Given the description of an element on the screen output the (x, y) to click on. 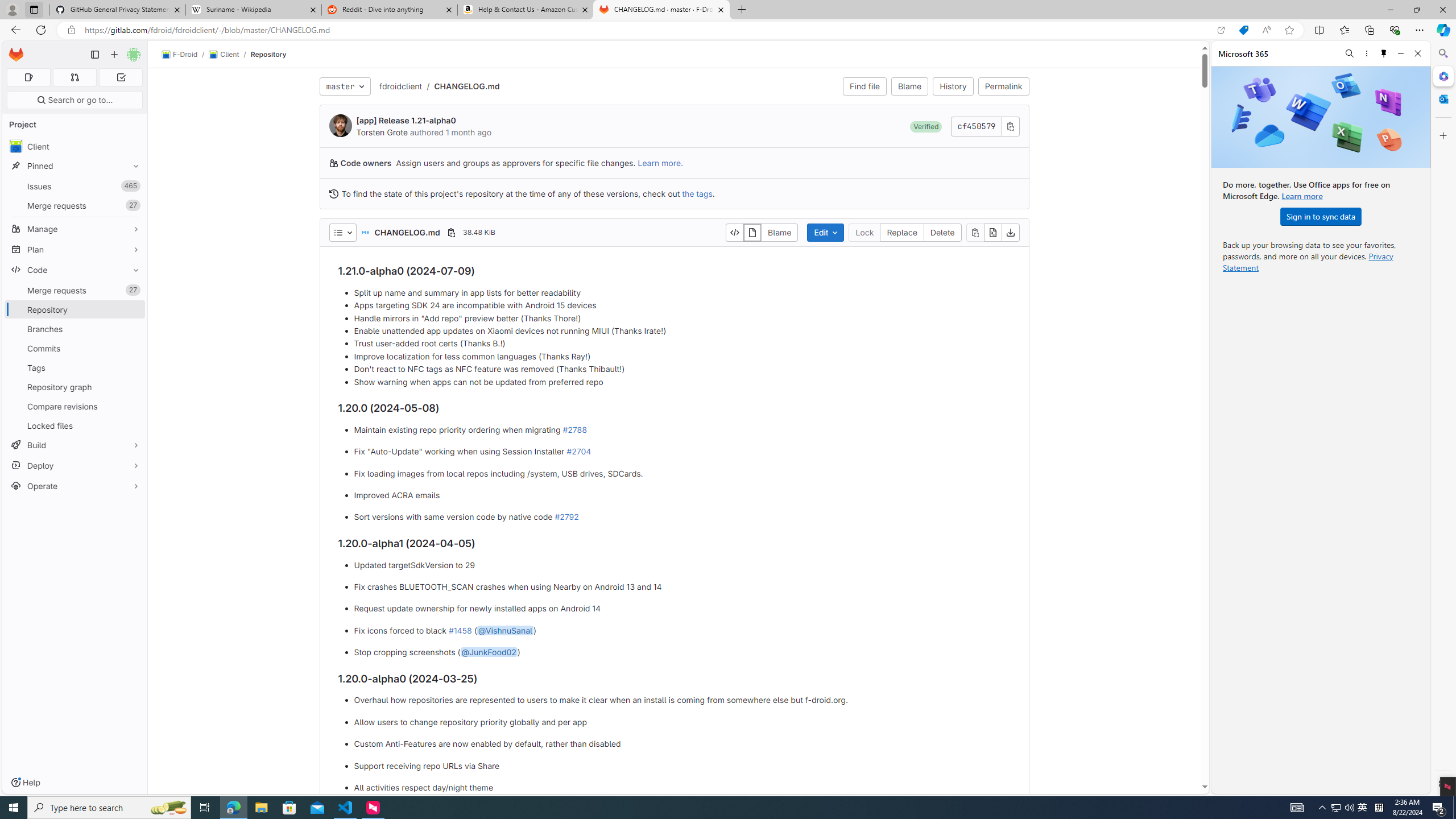
avatar (15, 146)
Client (74, 145)
Privacy Statement (1308, 261)
Issues465 (74, 185)
